Given the description of an element on the screen output the (x, y) to click on. 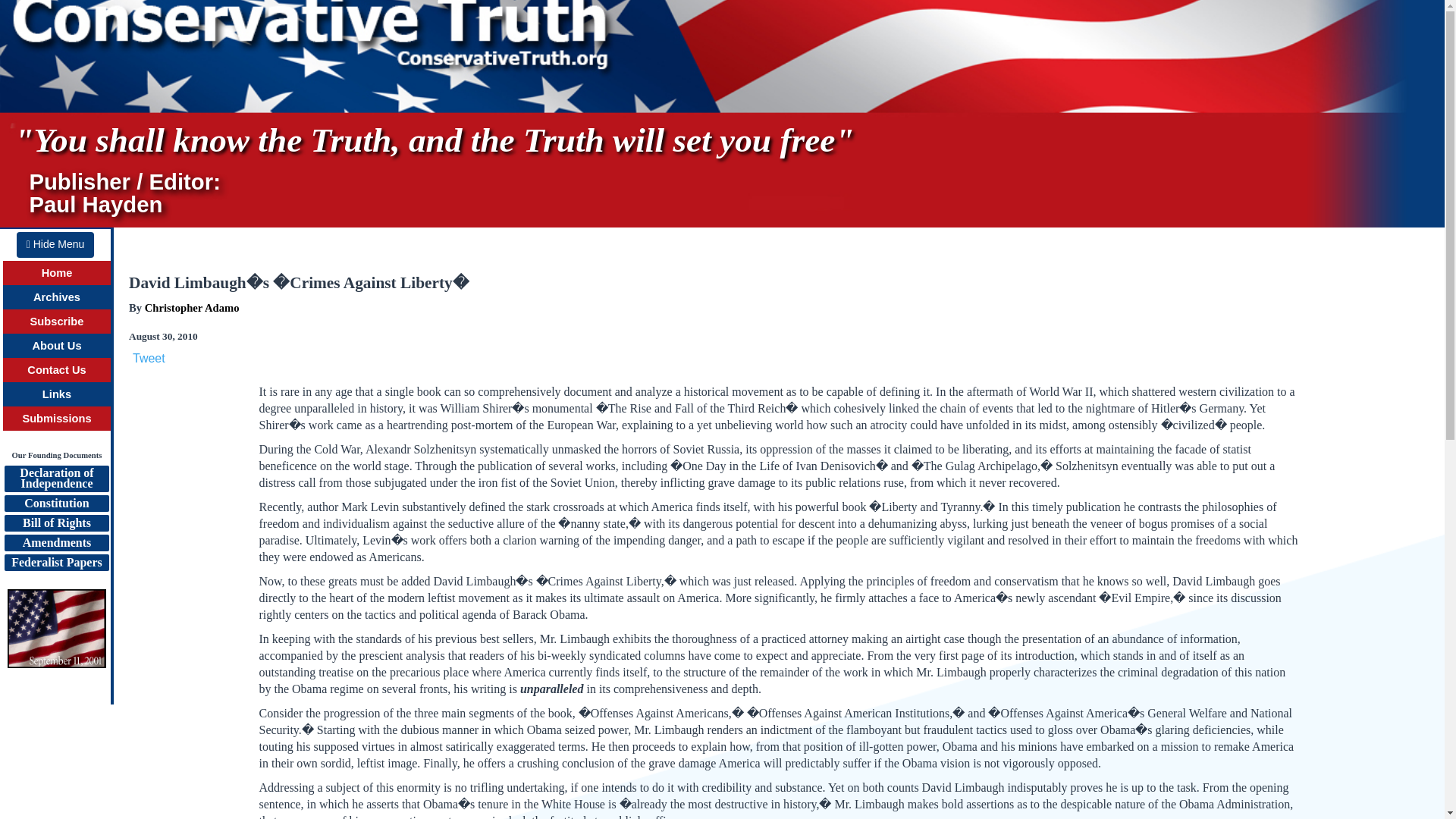
Home (57, 272)
Bill of Rights (56, 523)
Submissions (55, 418)
Constitution (56, 503)
Contact Us (56, 369)
About Us (56, 345)
Federalist Papers (56, 562)
Tweet (148, 358)
Subscribe (57, 321)
